Given the description of an element on the screen output the (x, y) to click on. 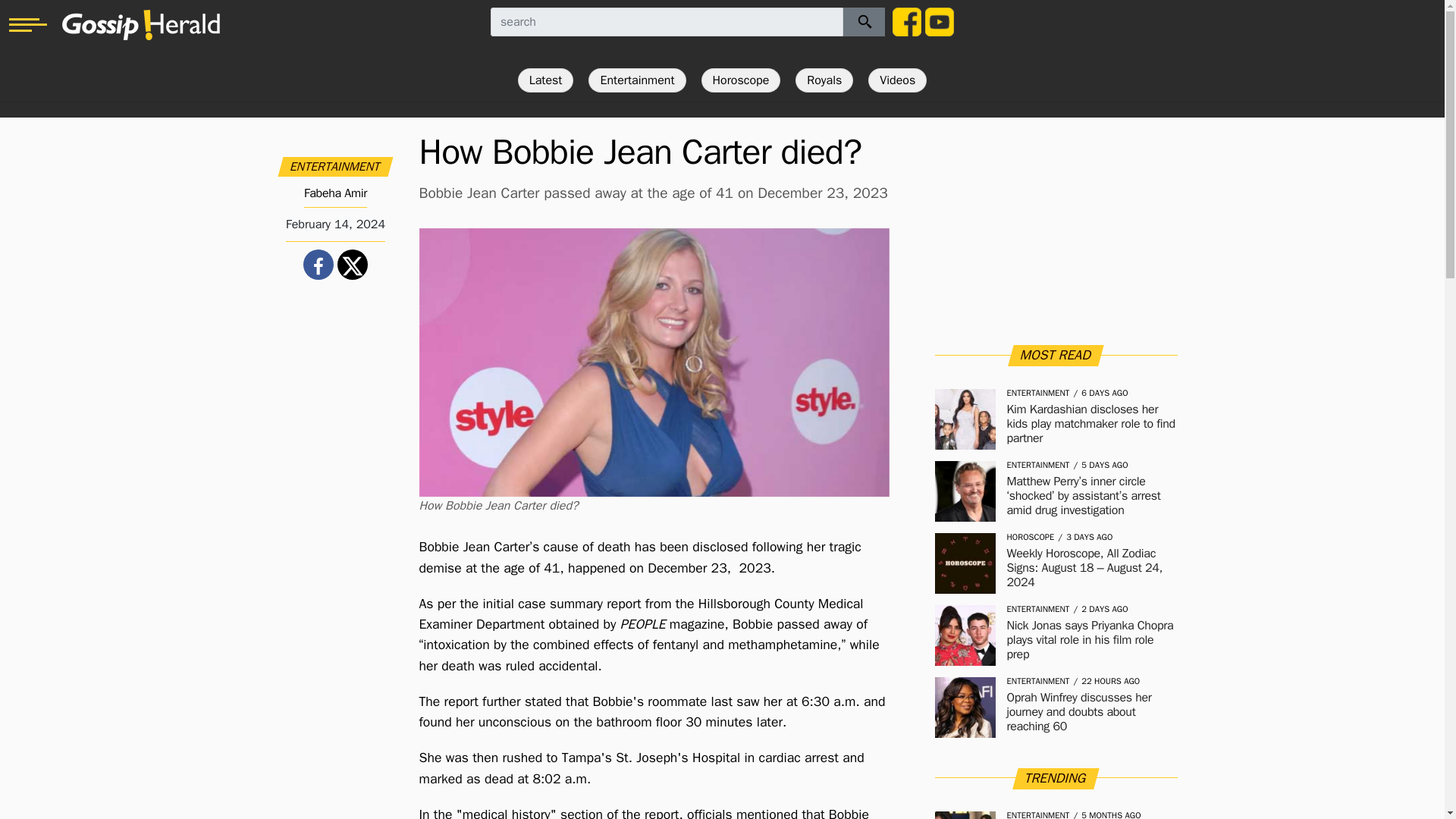
Videos (896, 79)
Fabeha Amir (335, 192)
Latest (545, 79)
Gossip Herald (140, 24)
Royals (823, 79)
Gossip Herald (140, 23)
Horoscope (740, 79)
Royals (823, 79)
Entertainment (636, 79)
Horoscope (740, 79)
